Given the description of an element on the screen output the (x, y) to click on. 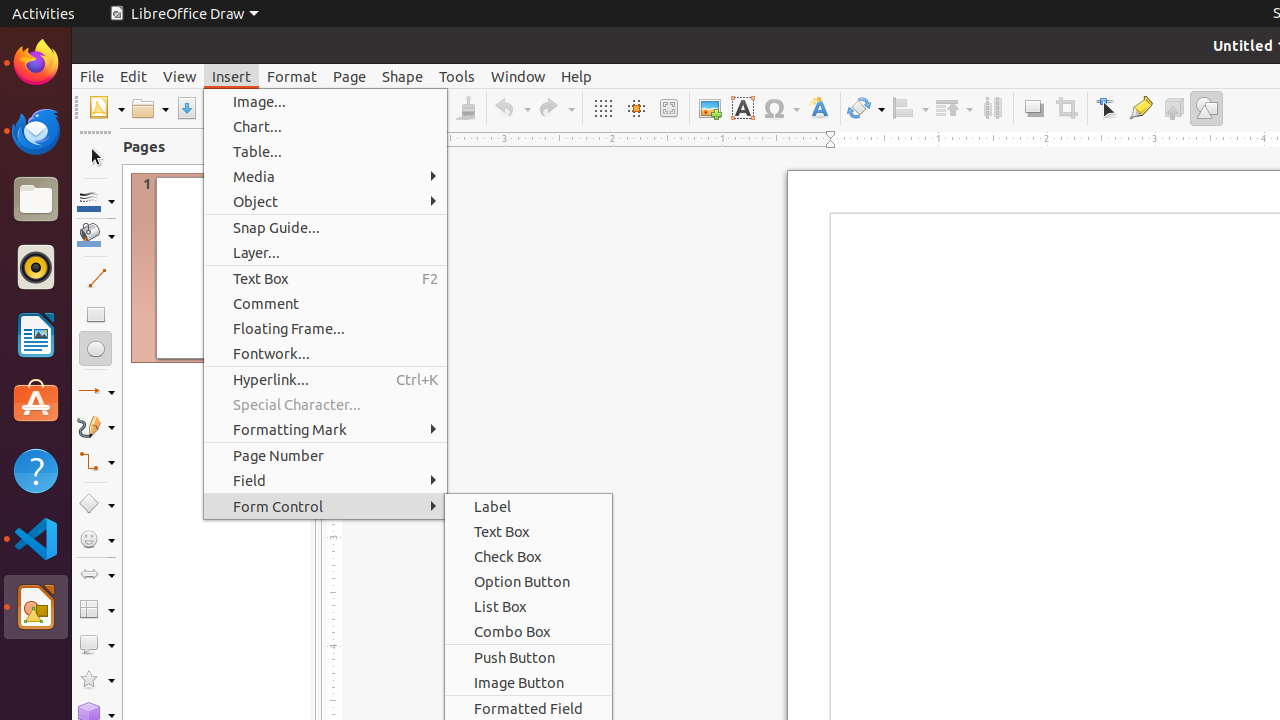
Transformations Element type: push-button (866, 108)
Redo Element type: push-button (556, 108)
Shape Element type: menu (402, 76)
Text Box Element type: menu-item (325, 278)
Window Element type: menu (518, 76)
